Given the description of an element on the screen output the (x, y) to click on. 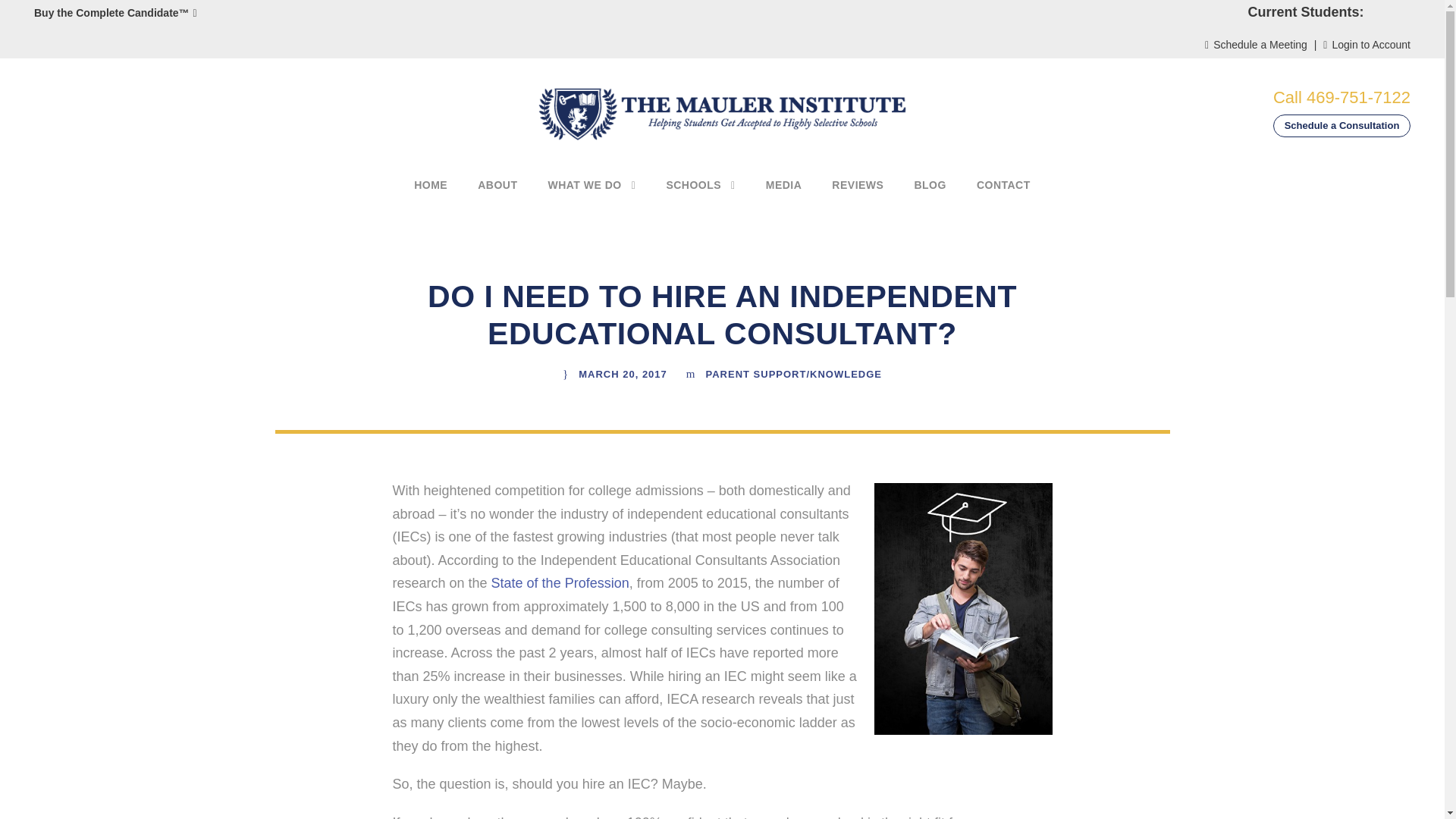
Call 469-751-7122 (1341, 97)
Login to Account (1366, 44)
Schedule a Meeting (1256, 44)
